Given the description of an element on the screen output the (x, y) to click on. 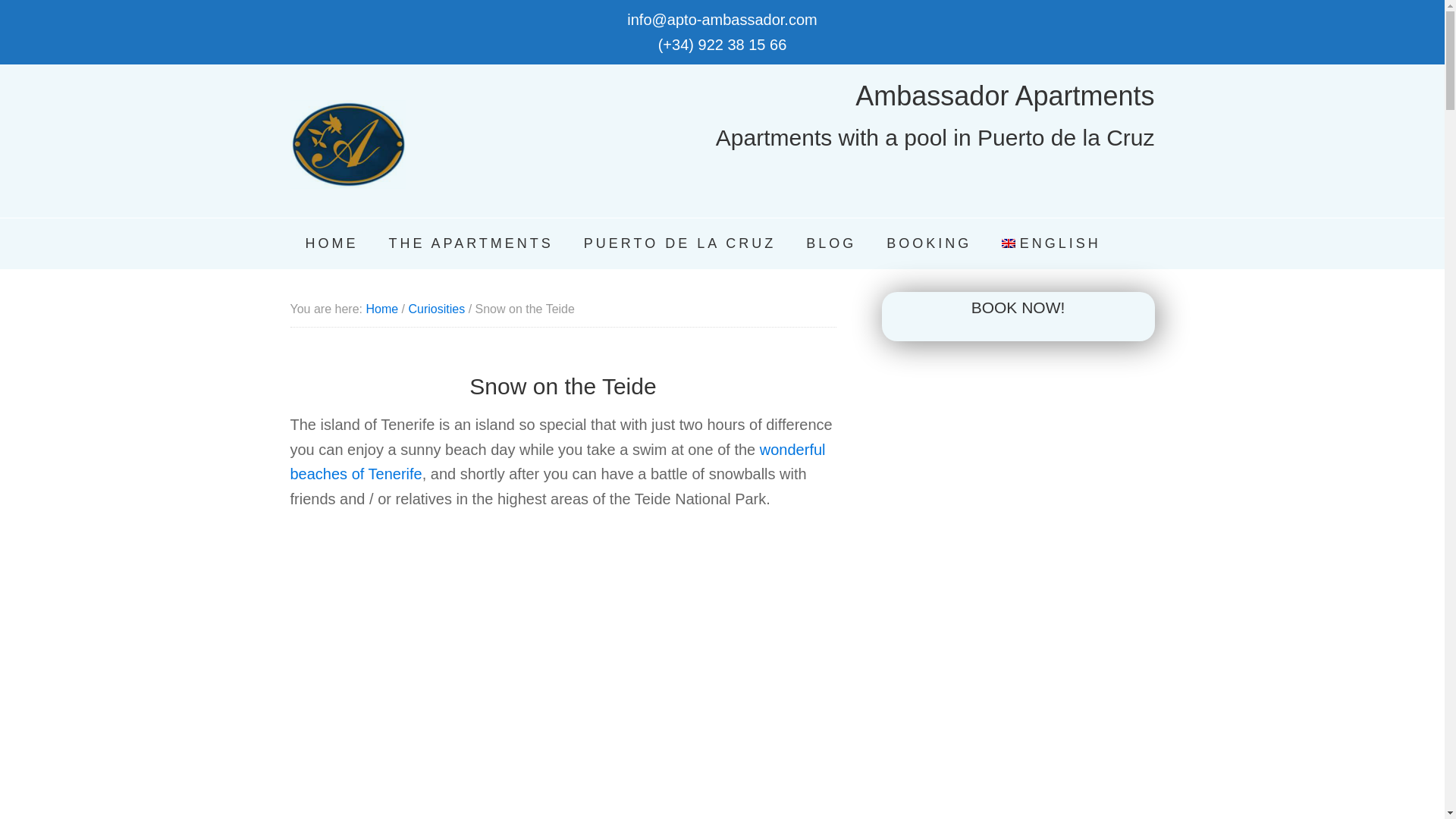
BOOKING (928, 243)
Curiosities (435, 308)
ENGLISH (1051, 243)
HOME (330, 243)
THE APARTMENTS (469, 243)
Home (381, 308)
English (1051, 243)
wonderful beaches of Tenerife (557, 462)
PUERTO DE LA CRUZ (679, 243)
BLOG (830, 243)
